Given the description of an element on the screen output the (x, y) to click on. 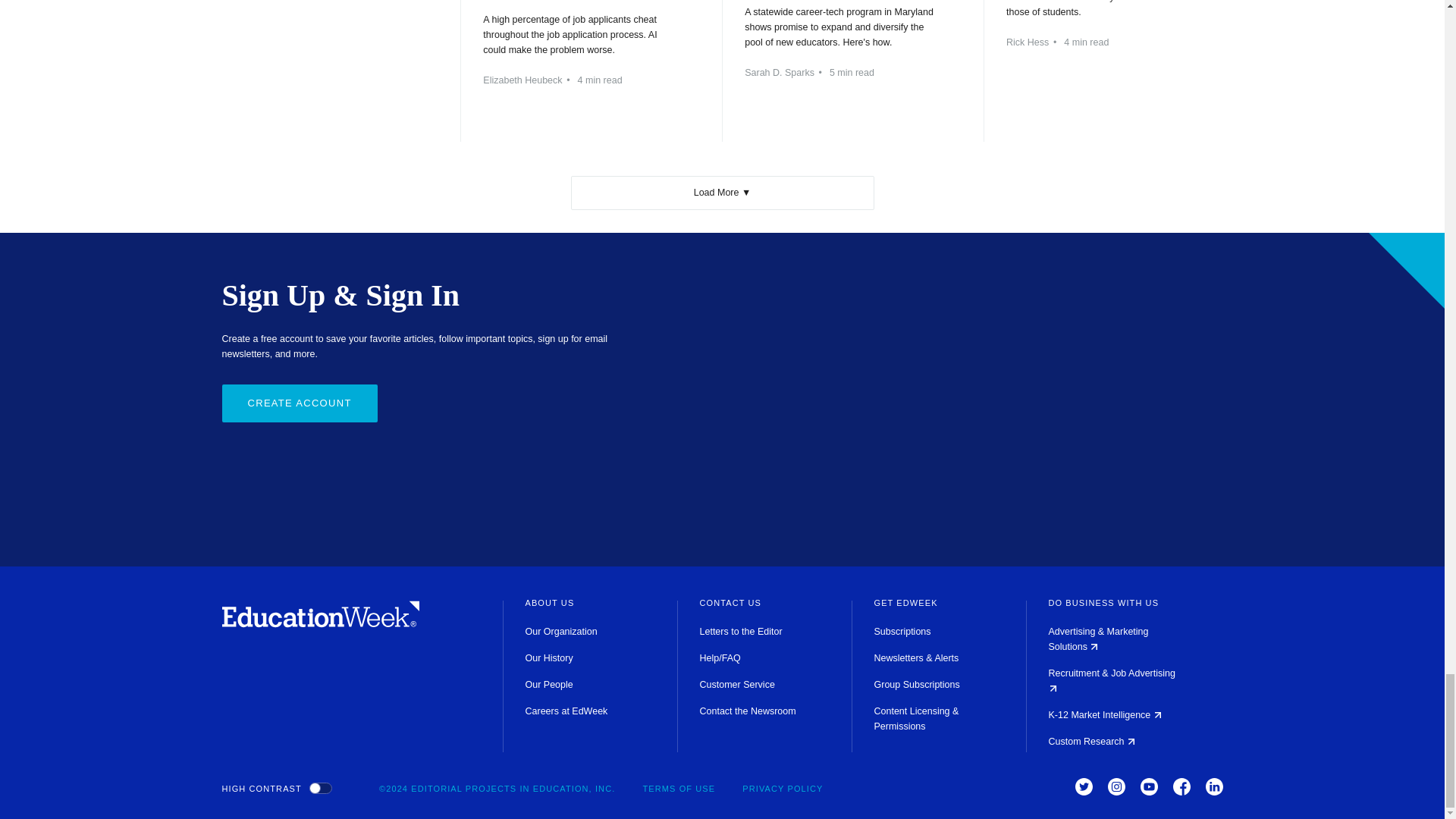
Homepage (320, 623)
